Given the description of an element on the screen output the (x, y) to click on. 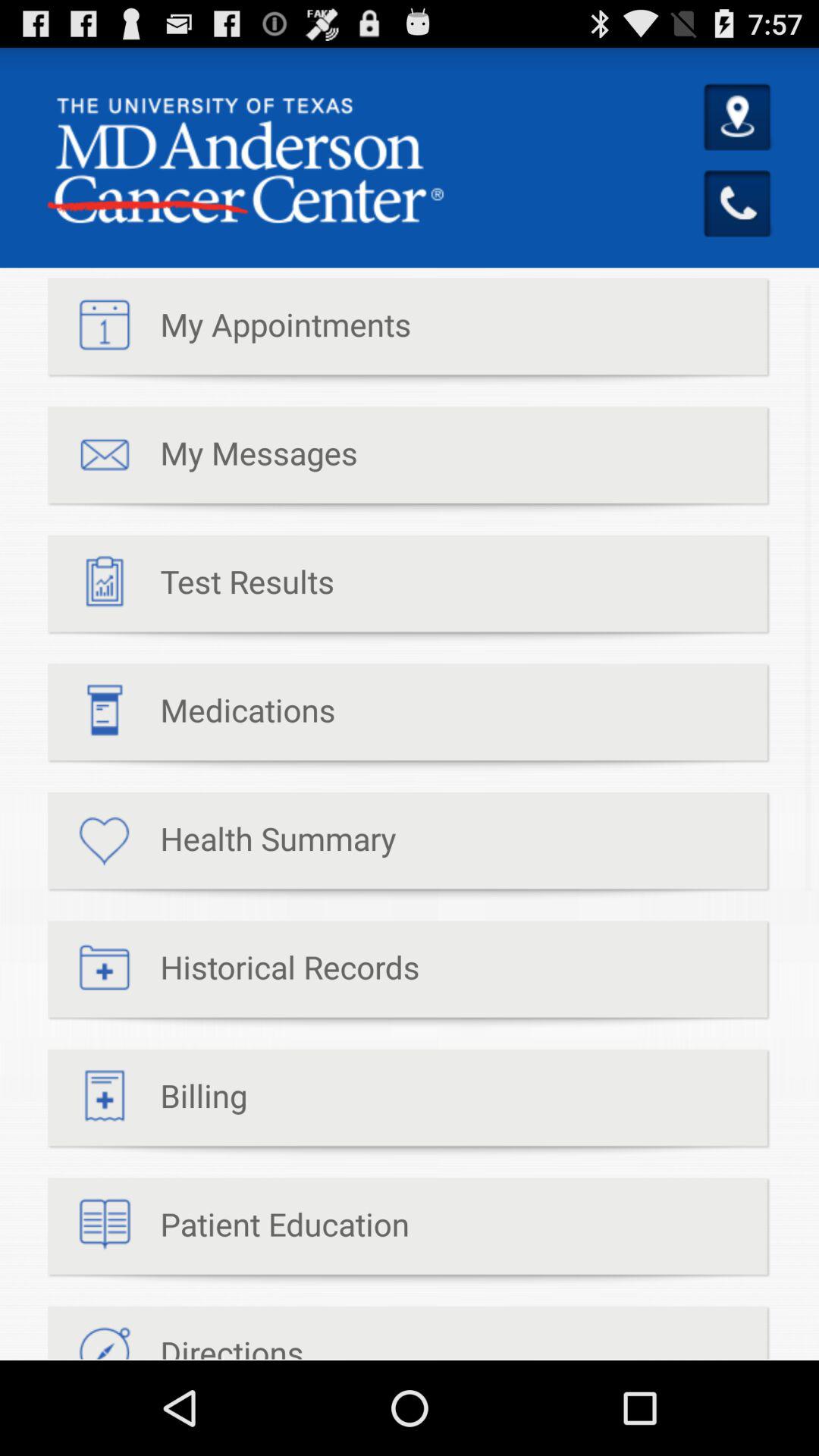
tap the item below the my appointments (202, 460)
